Given the description of an element on the screen output the (x, y) to click on. 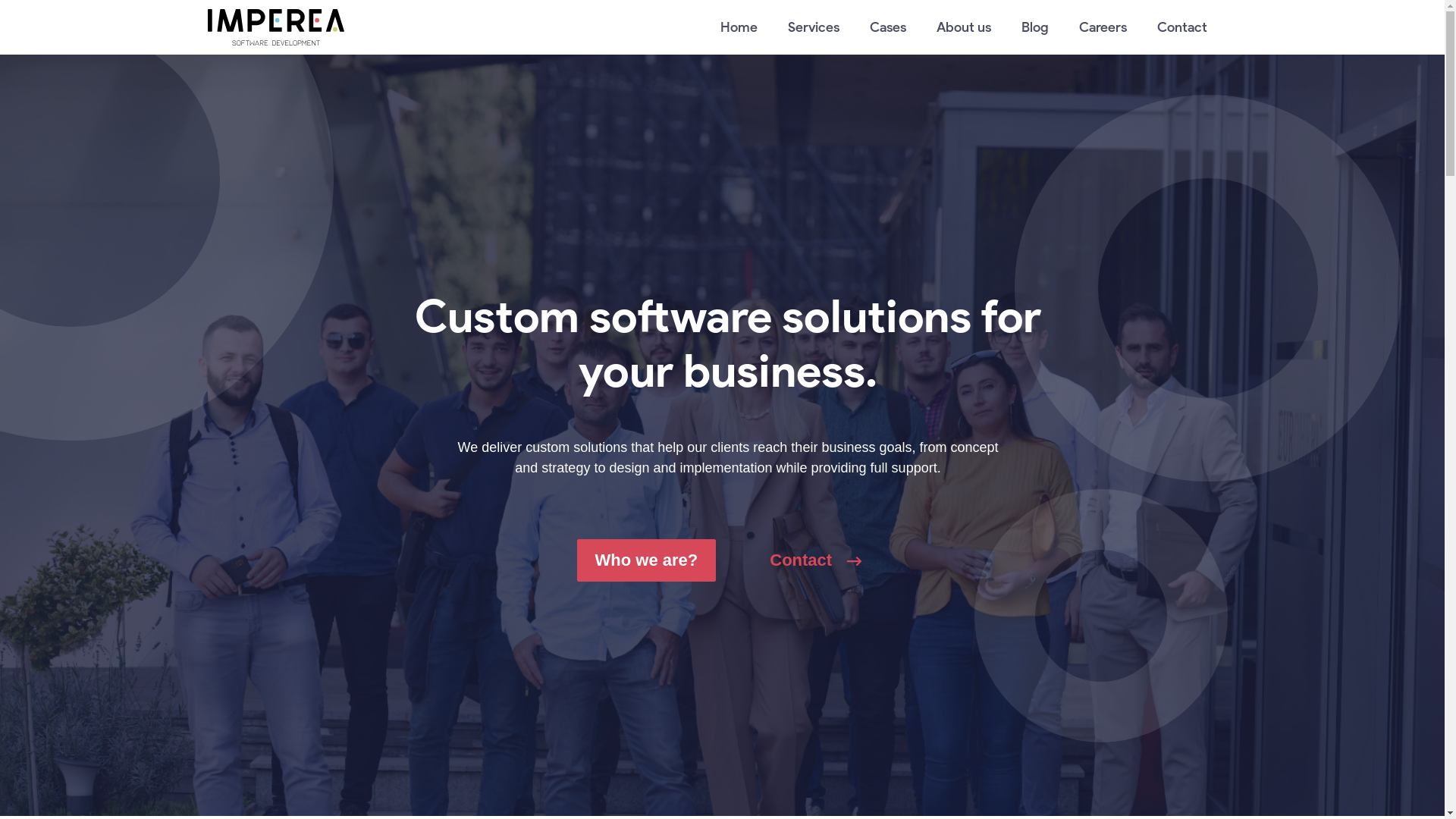
Home Element type: text (738, 26)
About us Element type: text (962, 26)
Contact Element type: text (815, 559)
Who we are? Element type: text (646, 560)
Blog Element type: text (1034, 26)
Cases Element type: text (886, 26)
Contact Element type: text (1182, 26)
Careers Element type: text (1102, 26)
Services Element type: text (812, 26)
